Given the description of an element on the screen output the (x, y) to click on. 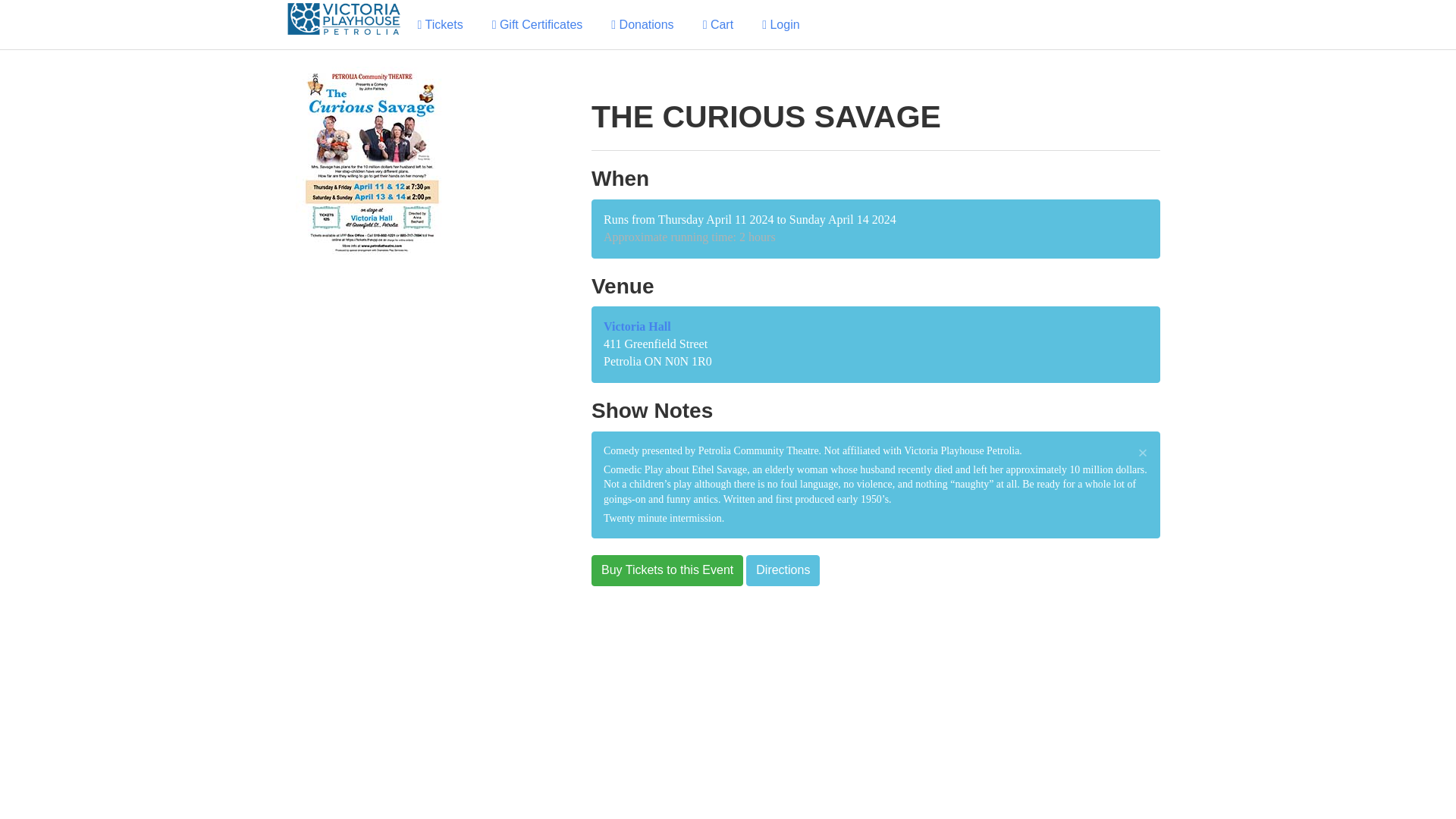
Login (780, 24)
Donations (641, 24)
Tickets (440, 24)
Buy Tickets to this Event (666, 570)
Directions (782, 570)
Cart (718, 24)
Victoria Hall (637, 326)
Gift Certificates (536, 24)
